Given the description of an element on the screen output the (x, y) to click on. 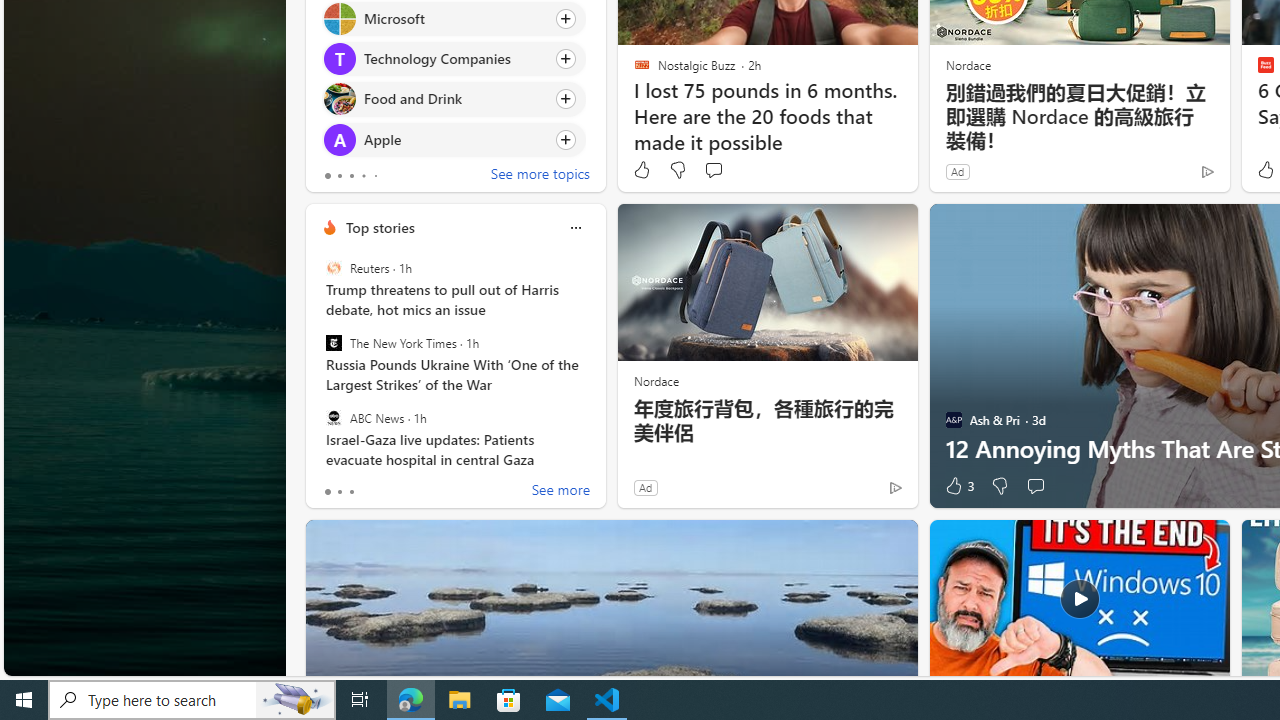
Click to follow topic Technology Companies (453, 59)
Reuters (333, 268)
Click to follow topic Food and Drink (453, 99)
Like (641, 170)
See more topics (540, 175)
Microsoft (338, 18)
tab-0 (327, 491)
Click to follow topic Apple (453, 138)
3 Like (957, 485)
tab-1 (338, 491)
ABC News (333, 417)
